Given the description of an element on the screen output the (x, y) to click on. 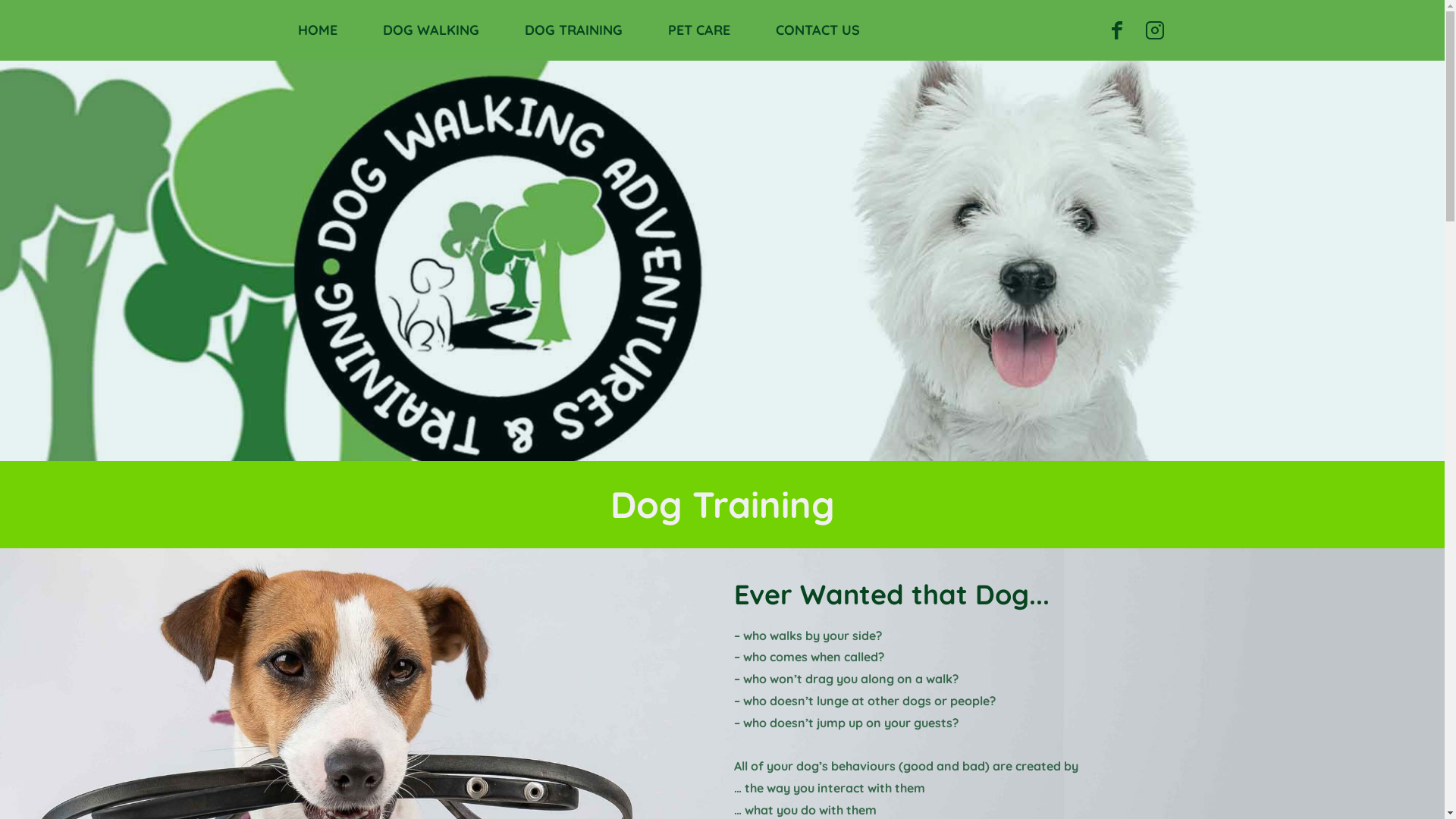
CONTACT US Element type: text (817, 29)
DOG TRAINING Element type: text (572, 29)
PET CARE Element type: text (699, 29)
HOME Element type: text (317, 29)
DOG WALKING Element type: text (431, 29)
